Given the description of an element on the screen output the (x, y) to click on. 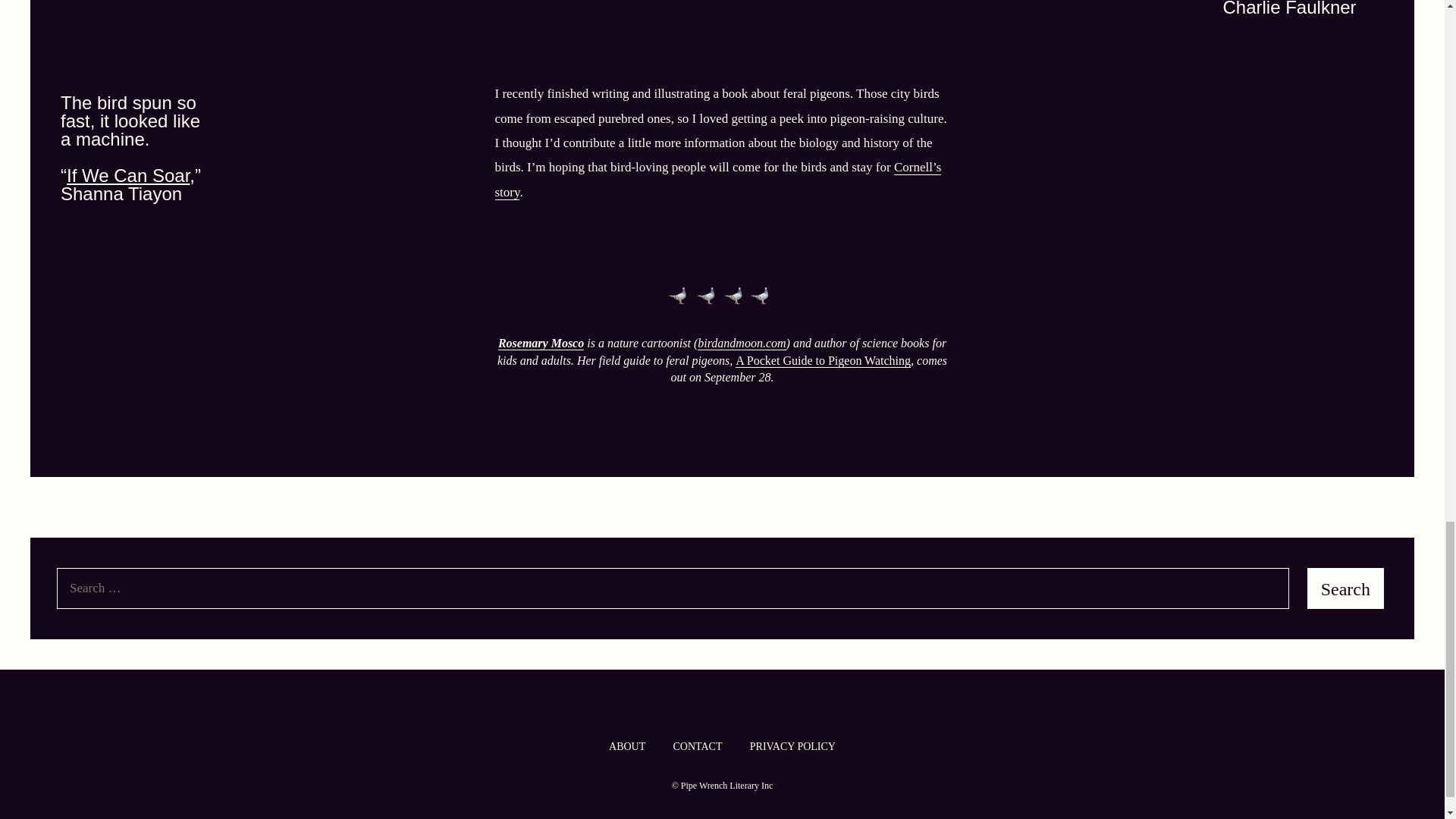
ABOUT (626, 746)
PRIVACY POLICY (792, 746)
Rosemary Mosco (540, 343)
A Pocket Guide to Pigeon Watching (823, 360)
Search (1345, 588)
birdandmoon.com (741, 343)
If We Can Soar (127, 175)
Search (1345, 588)
CONTACT (697, 746)
Search (1345, 588)
